Given the description of an element on the screen output the (x, y) to click on. 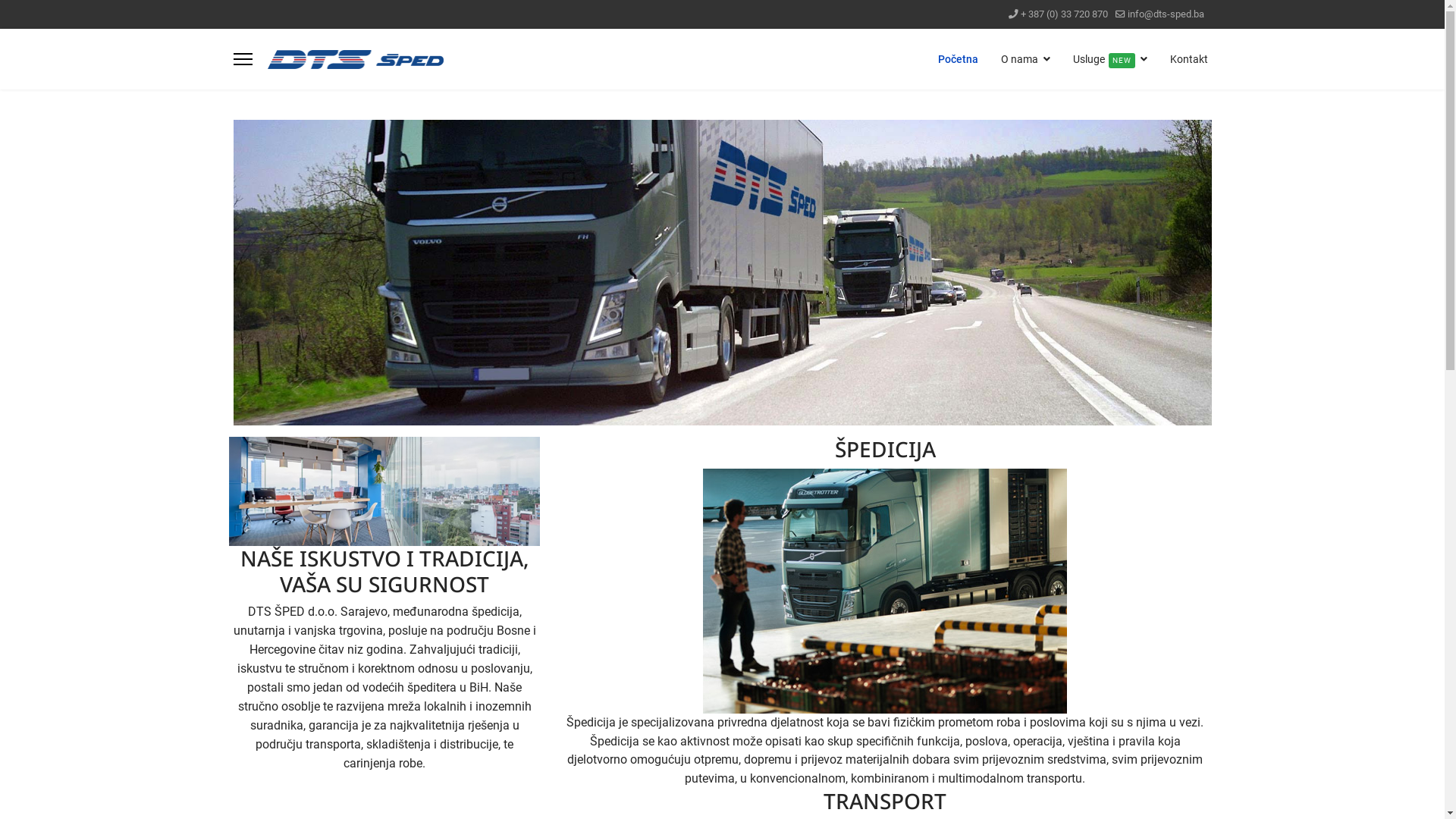
UslugeNEW Element type: text (1109, 58)
info@dts-sped.ba Element type: text (1164, 13)
Kontakt Element type: text (1183, 58)
O nama Element type: text (1024, 58)
+ 387 (0) 33 720 870 Element type: text (1063, 13)
Menu Element type: hover (242, 58)
